Given the description of an element on the screen output the (x, y) to click on. 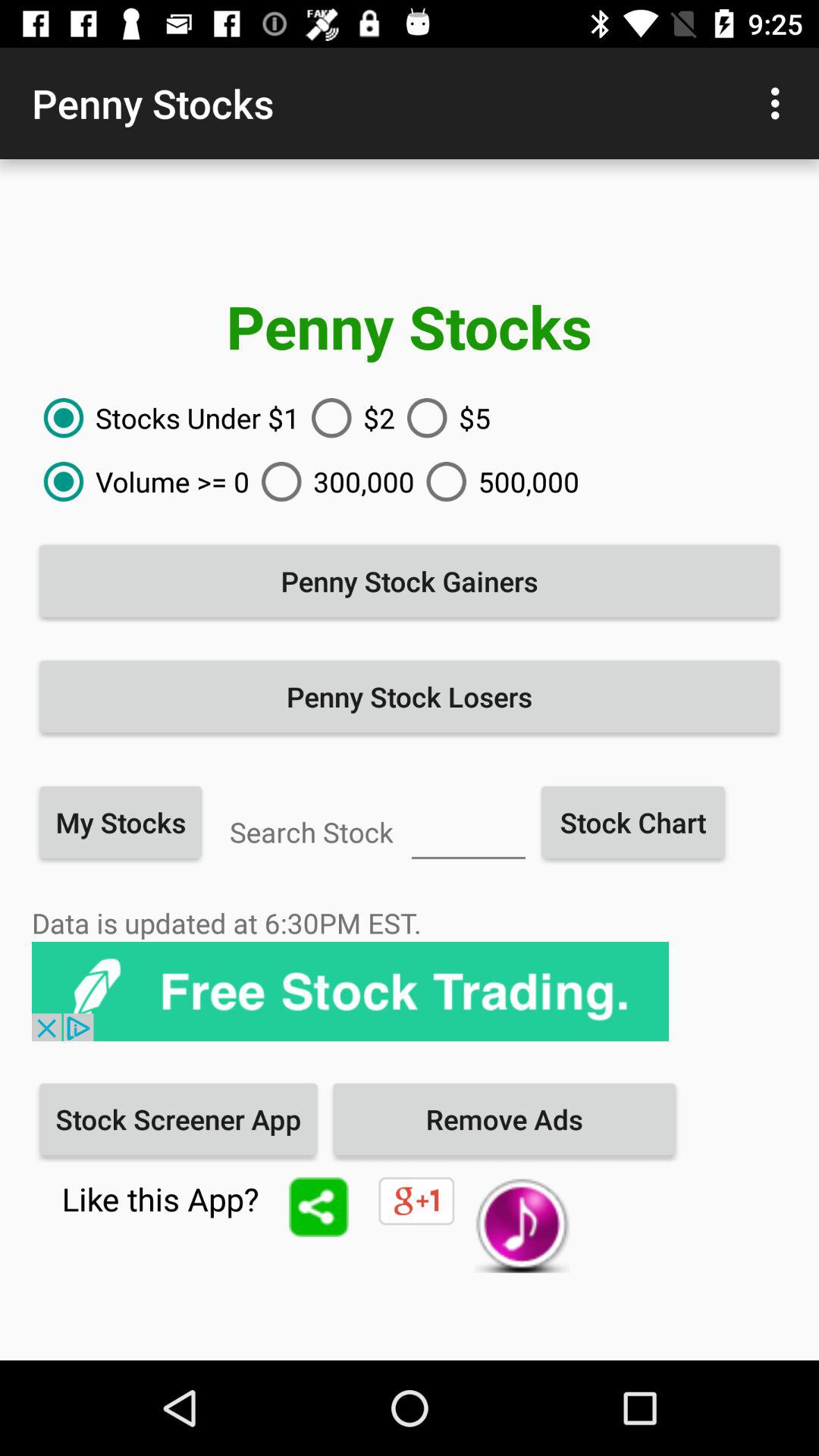
turn off item to the left of 300,000 icon (140, 481)
